Given the description of an element on the screen output the (x, y) to click on. 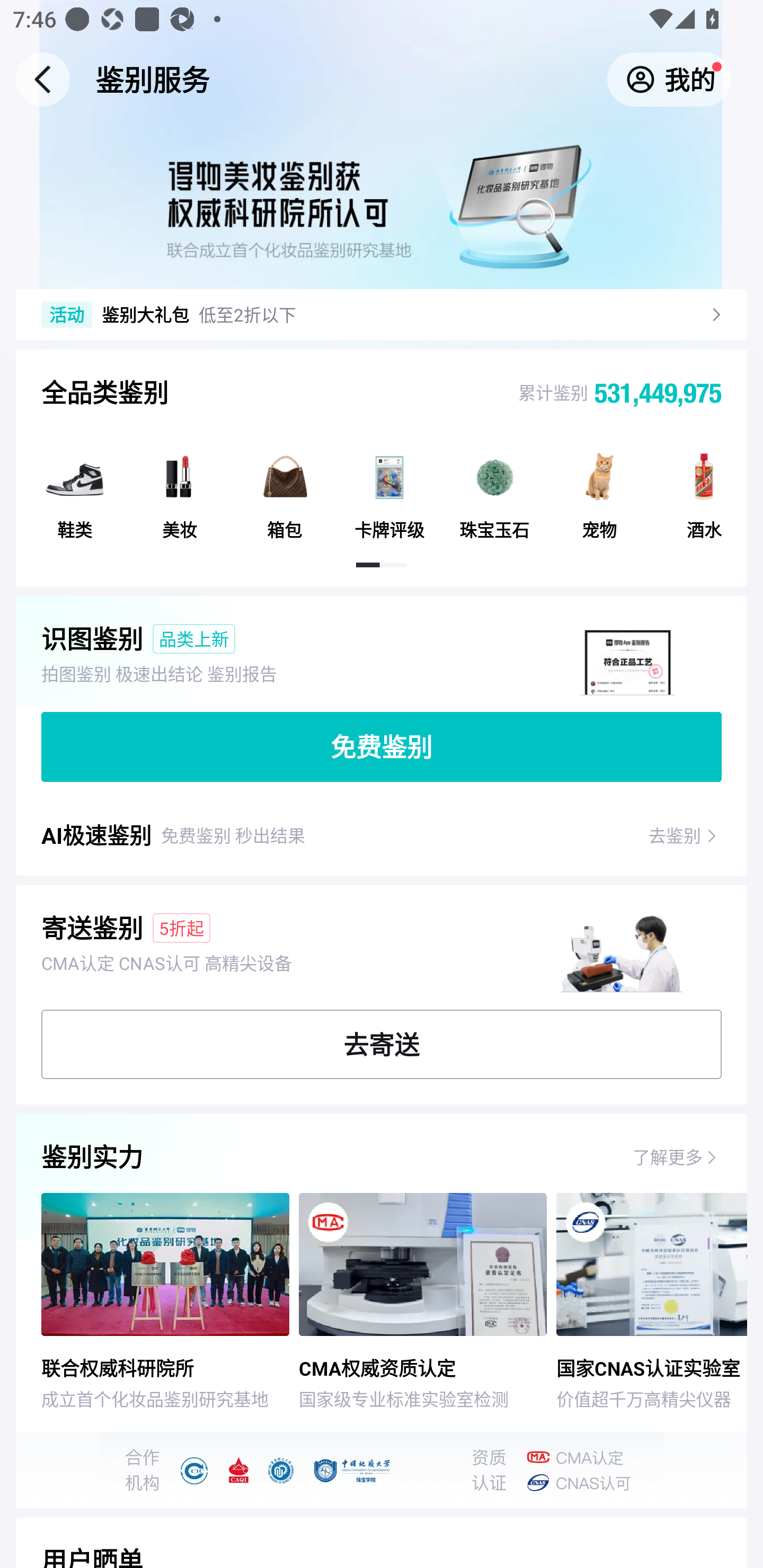
活动 鉴别大礼包 低至2折以下 (369, 314)
鞋类 (74, 488)
美妆 (179, 488)
箱包 (284, 488)
卡牌评级 (388, 488)
珠宝玉石 (494, 488)
宠物 (599, 488)
酒水 (703, 488)
免费鉴别 (381, 746)
AI极速鉴别 免费鉴别 秒出结果 去鉴别 (381, 840)
去寄送 (381, 1043)
了解更多 (667, 1156)
联合权威科研院所 成立首个化妆品鉴别研究基地 (157, 1302)
CMA权威资质认定 国家级专业标准实验室检测 (427, 1302)
国家CNAS认证实验室 价值超千万高精尖仪器 (651, 1302)
